Given the description of an element on the screen output the (x, y) to click on. 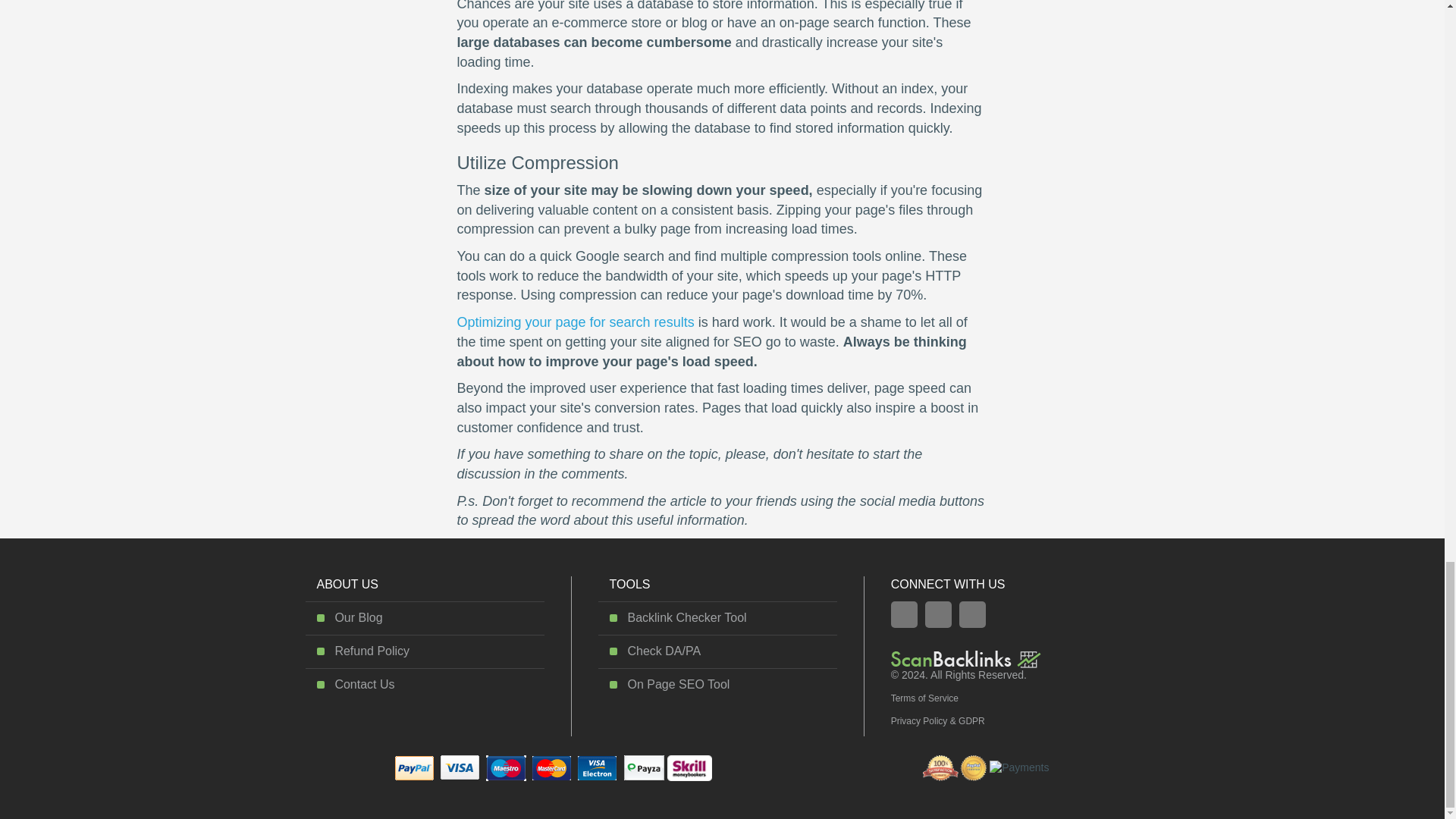
Refund Policy (371, 650)
Terms of Service (924, 697)
Optimizing your page for search results (575, 322)
Backlink Checker Tool (686, 617)
Contact Us (364, 684)
On Page SEO Tool (678, 684)
Our Blog (357, 617)
